Given the description of an element on the screen output the (x, y) to click on. 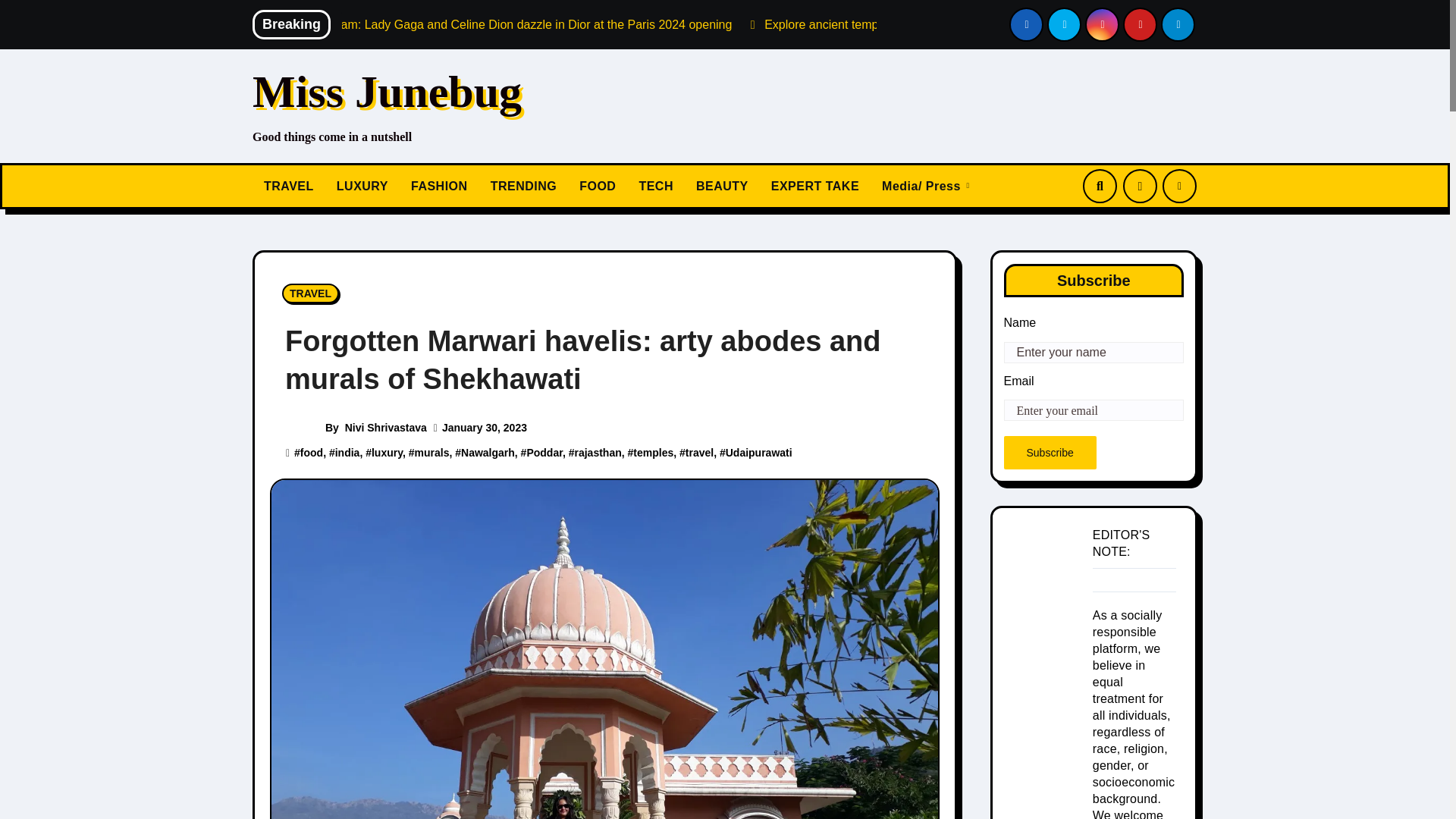
BEAUTY (722, 187)
india (346, 452)
Subscribe (1050, 452)
murals (431, 452)
Poddar (543, 452)
TRAVEL (310, 293)
TRENDING (524, 187)
EXPERT TAKE (815, 187)
LUXURY (361, 187)
January 30, 2023 (484, 427)
